Given the description of an element on the screen output the (x, y) to click on. 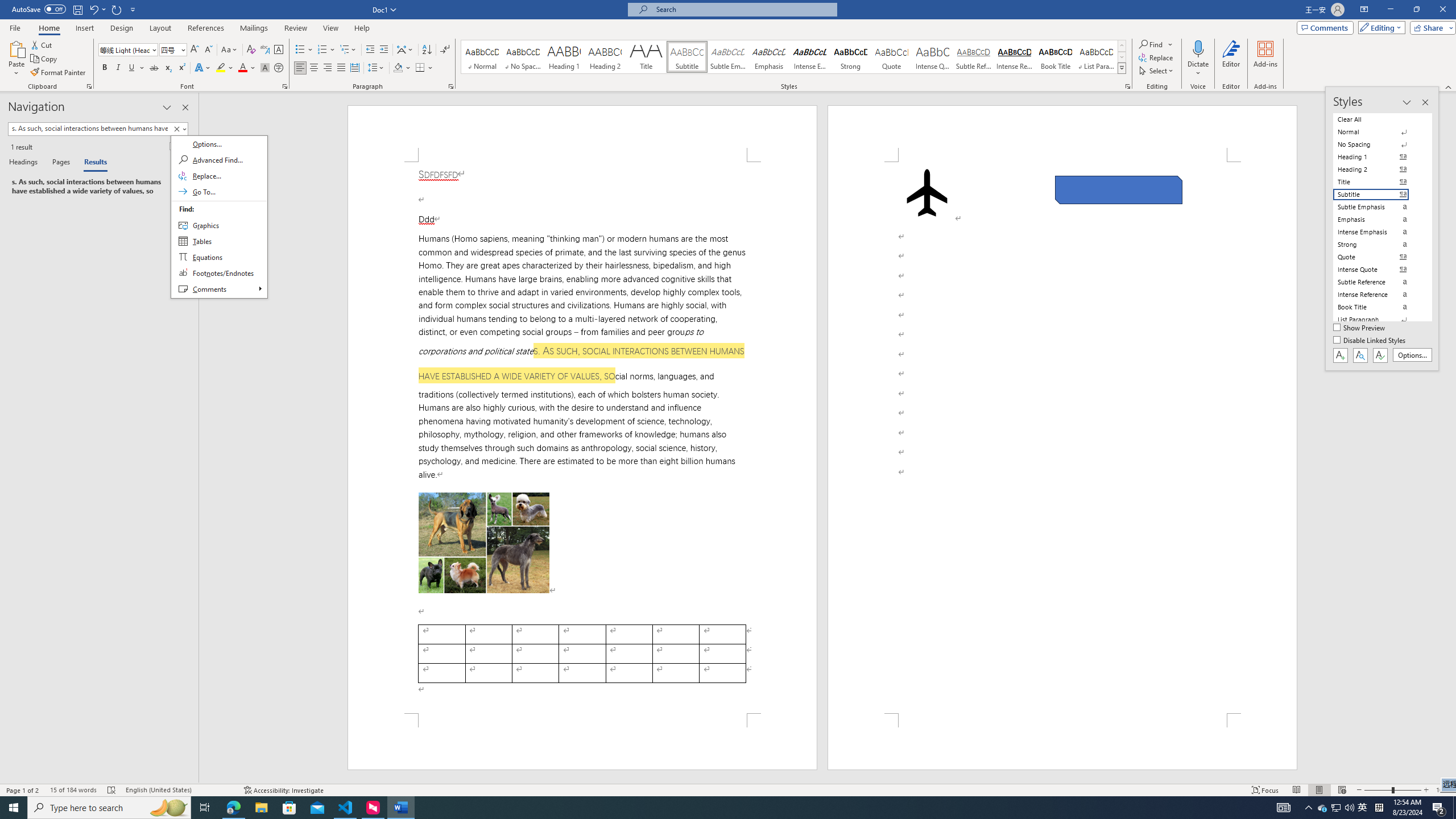
Phonetic Guide... (264, 49)
Visual Studio Code - 1 running window (345, 807)
Clear All (1377, 119)
AutomationID: 4105 (1335, 807)
Clear (1362, 807)
Format Painter (1283, 807)
Clear (218, 216)
